Given the description of an element on the screen output the (x, y) to click on. 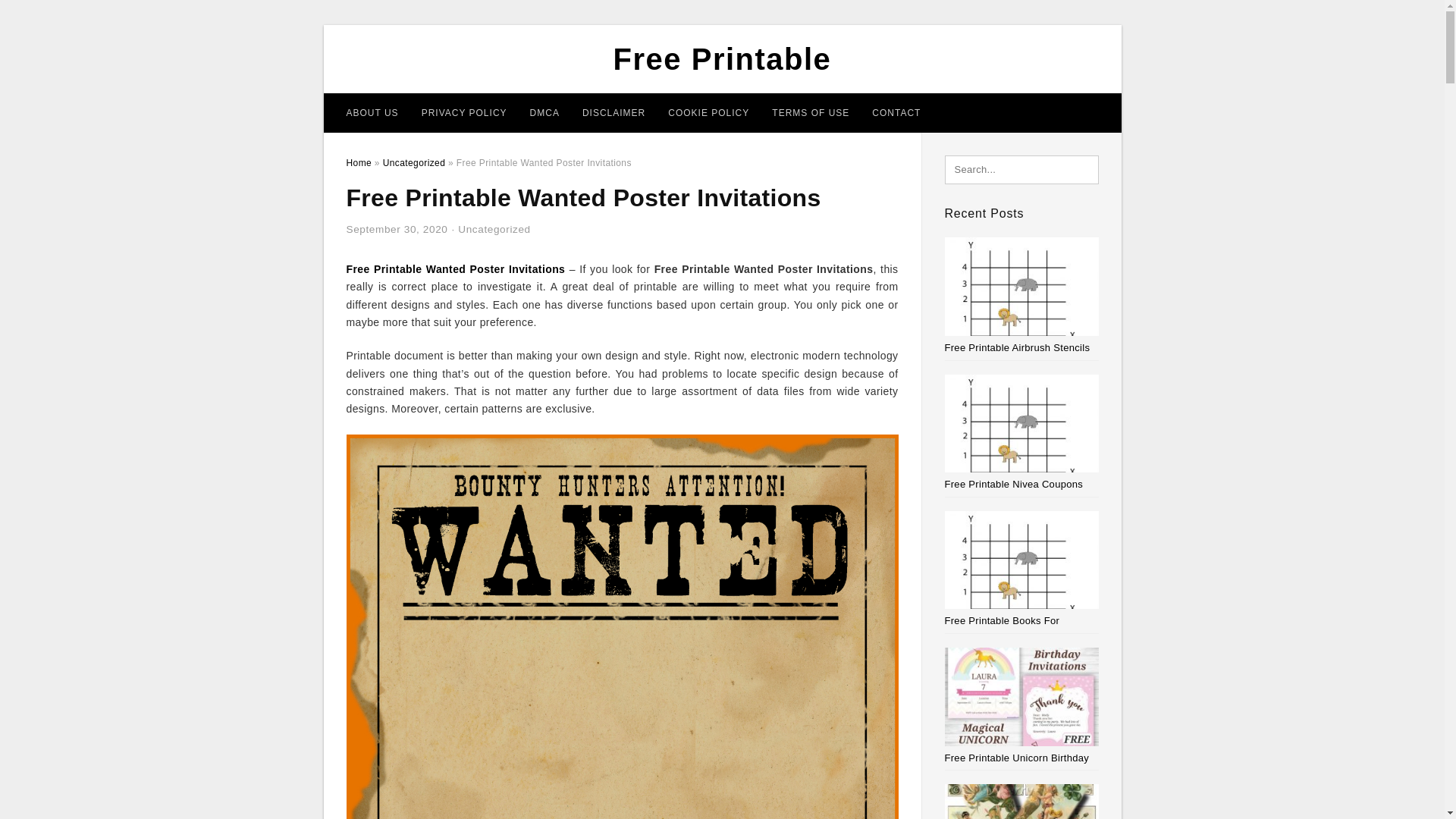
DMCA (544, 112)
Free Printable Nivea Coupons (1013, 483)
TERMS OF USE (810, 112)
CONTACT (895, 112)
Free Printable (721, 59)
Home (358, 163)
Search (43, 15)
Free Printable Wanted Poster Invitations (455, 268)
Uncategorized (413, 163)
